Given the description of an element on the screen output the (x, y) to click on. 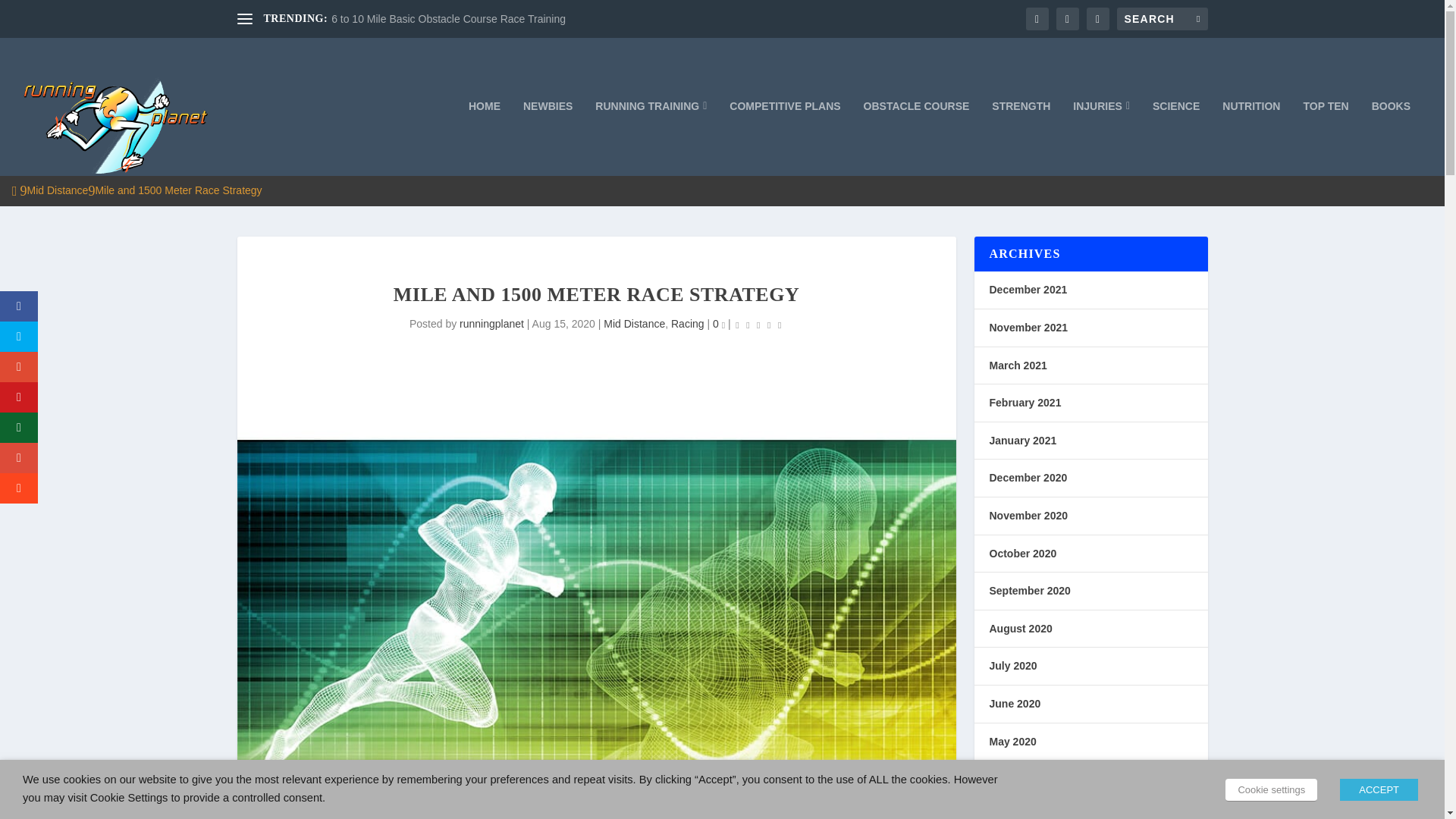
Rating: 0.00 (758, 324)
Posts by runningplanet (492, 323)
COMPETITIVE PLANS (784, 137)
OBSTACLE COURSE (916, 137)
comment count (723, 325)
NEWBIES (547, 137)
RUNNING TRAINING (650, 137)
STRENGTH (1020, 137)
Search for: (1161, 18)
HOME (484, 137)
6 to 10 Mile Basic Obstacle Course Race Training (448, 19)
